Given the description of an element on the screen output the (x, y) to click on. 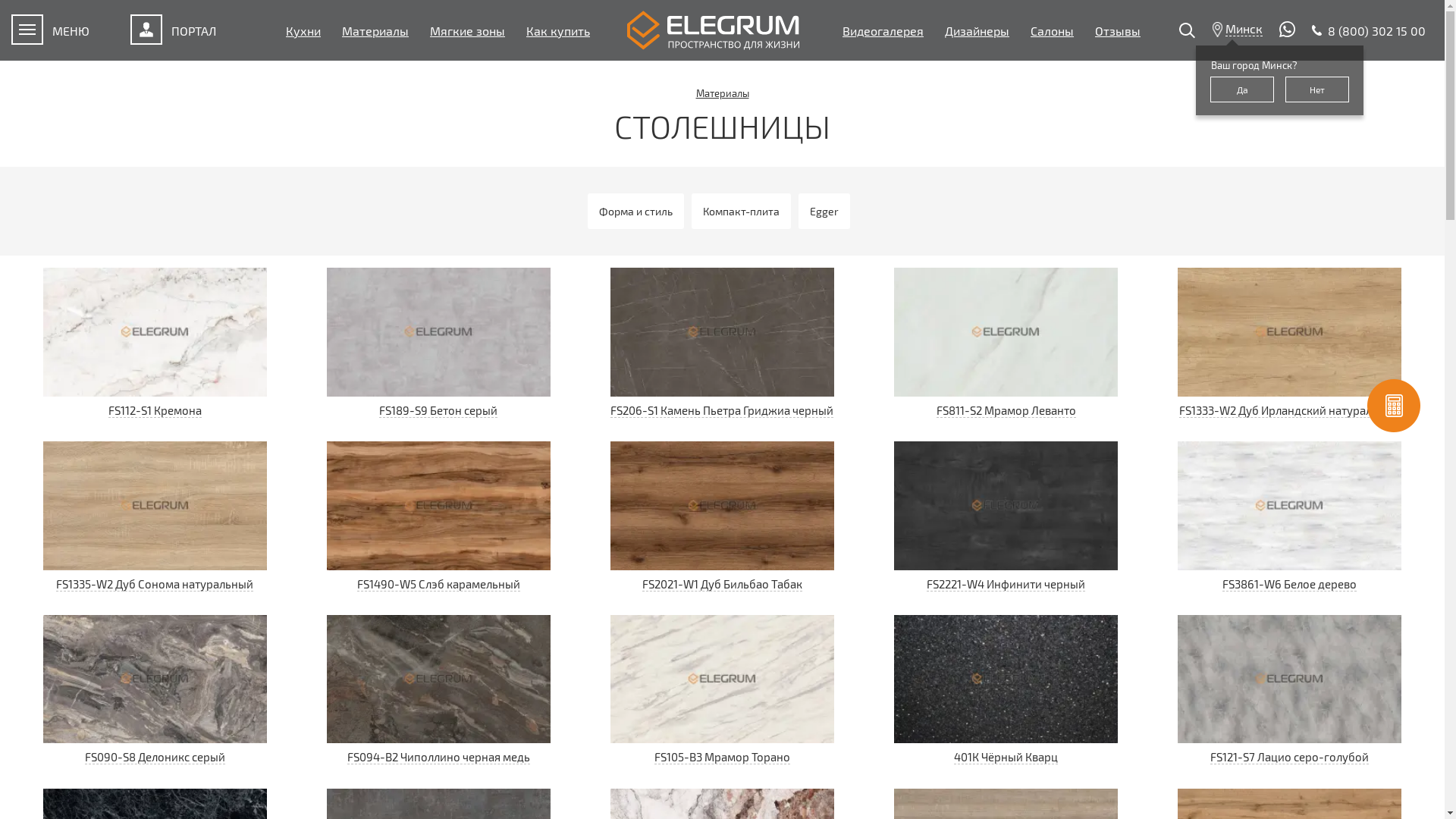
8 (800) 302 15 00 Element type: text (1368, 29)
